Given the description of an element on the screen output the (x, y) to click on. 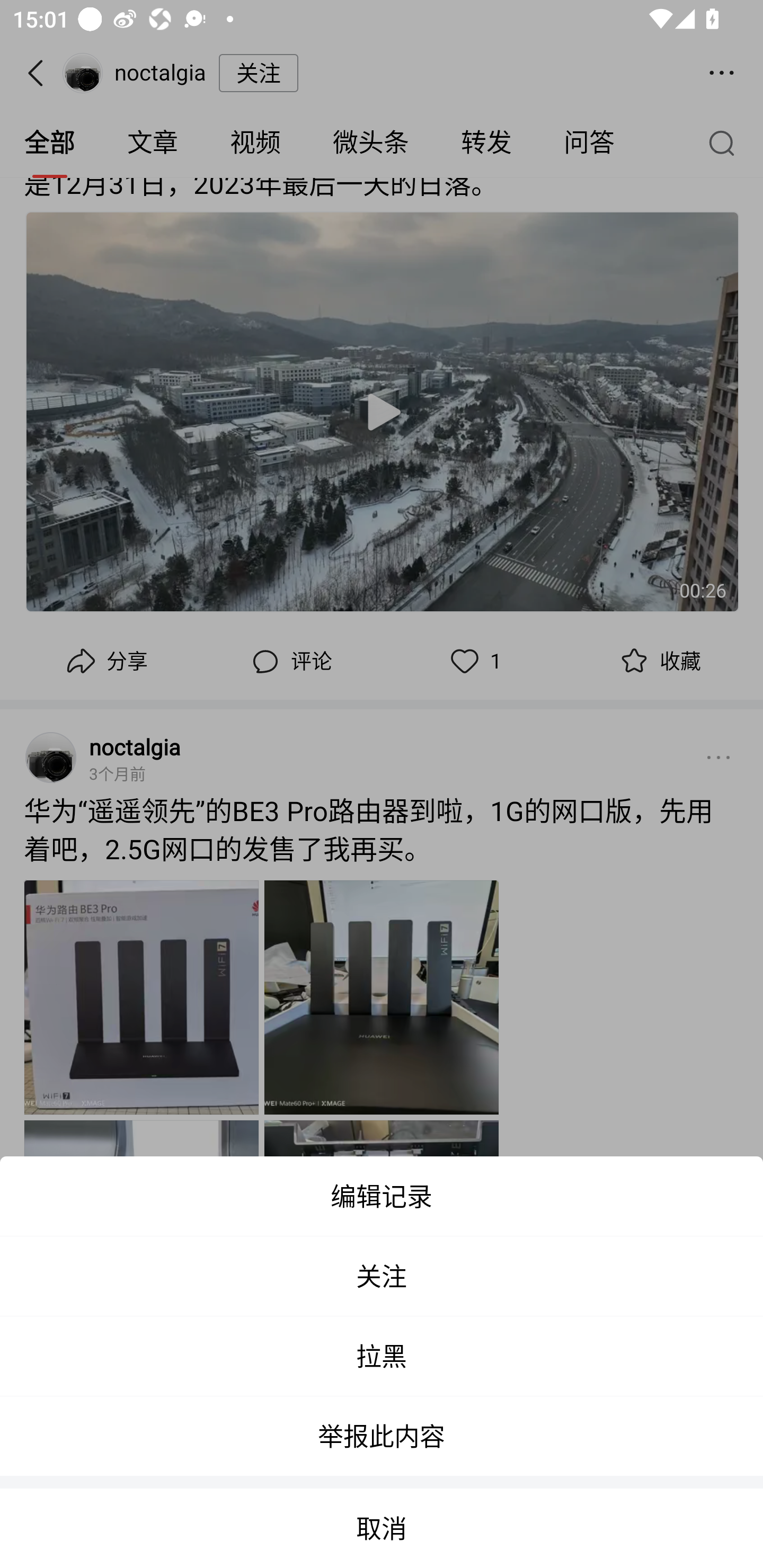
编辑记录 (381, 1196)
关注 (381, 1276)
拉黑 (381, 1356)
举报此内容 (381, 1436)
取消 (381, 1528)
